Given the description of an element on the screen output the (x, y) to click on. 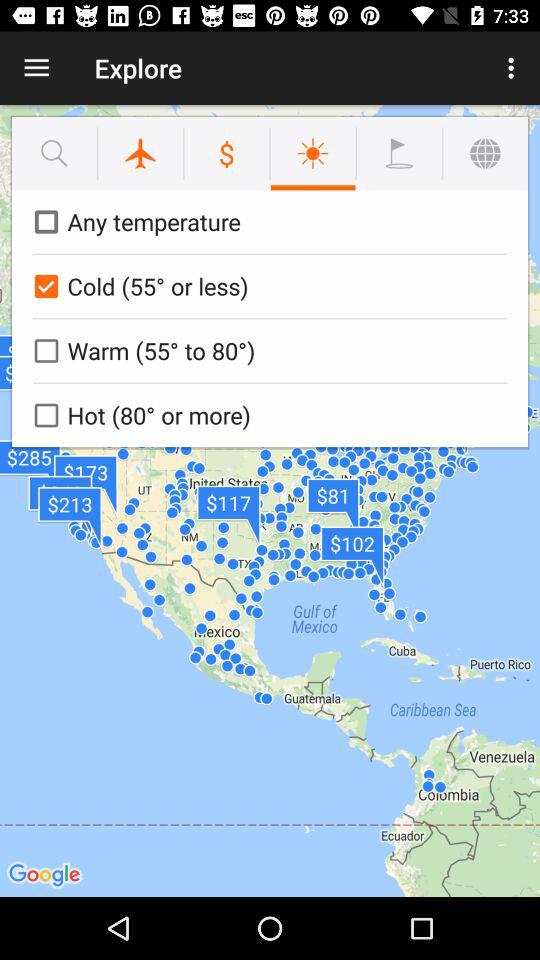
turn off any temperature icon (266, 221)
